Given the description of an element on the screen output the (x, y) to click on. 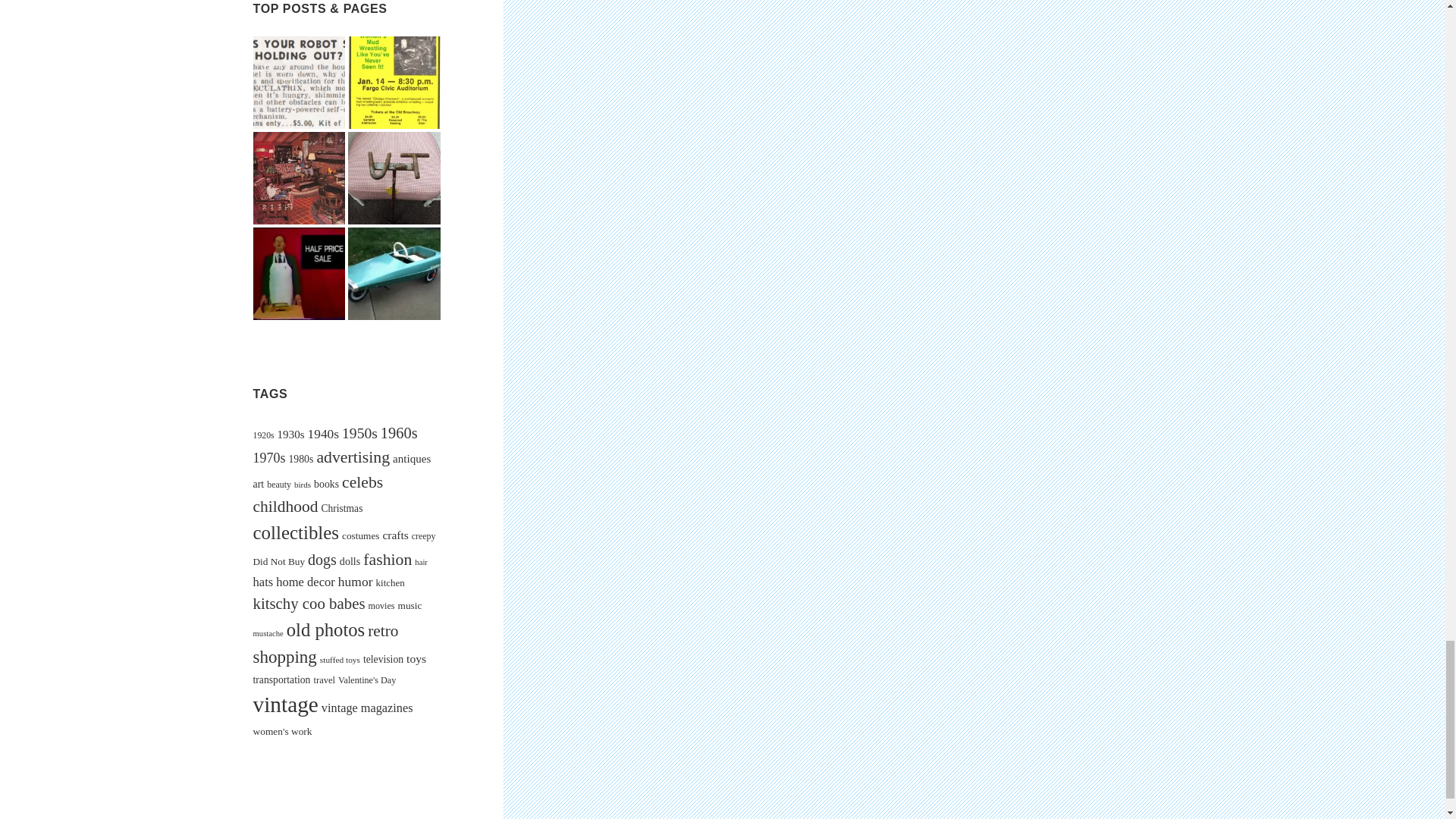
Women's Mud Wrestling - Like You've Never Seen It, 1982 (394, 82)
This Takes TV Branding To A Whole New Level (394, 177)
ARE YOU OUT OF ROBOTS? (299, 82)
That Old-Timey Look (299, 177)
Williston's Landmark Pizza Hut, 1992 (299, 273)
The AMF Probe Jr, 1970s (394, 273)
